Given the description of an element on the screen output the (x, y) to click on. 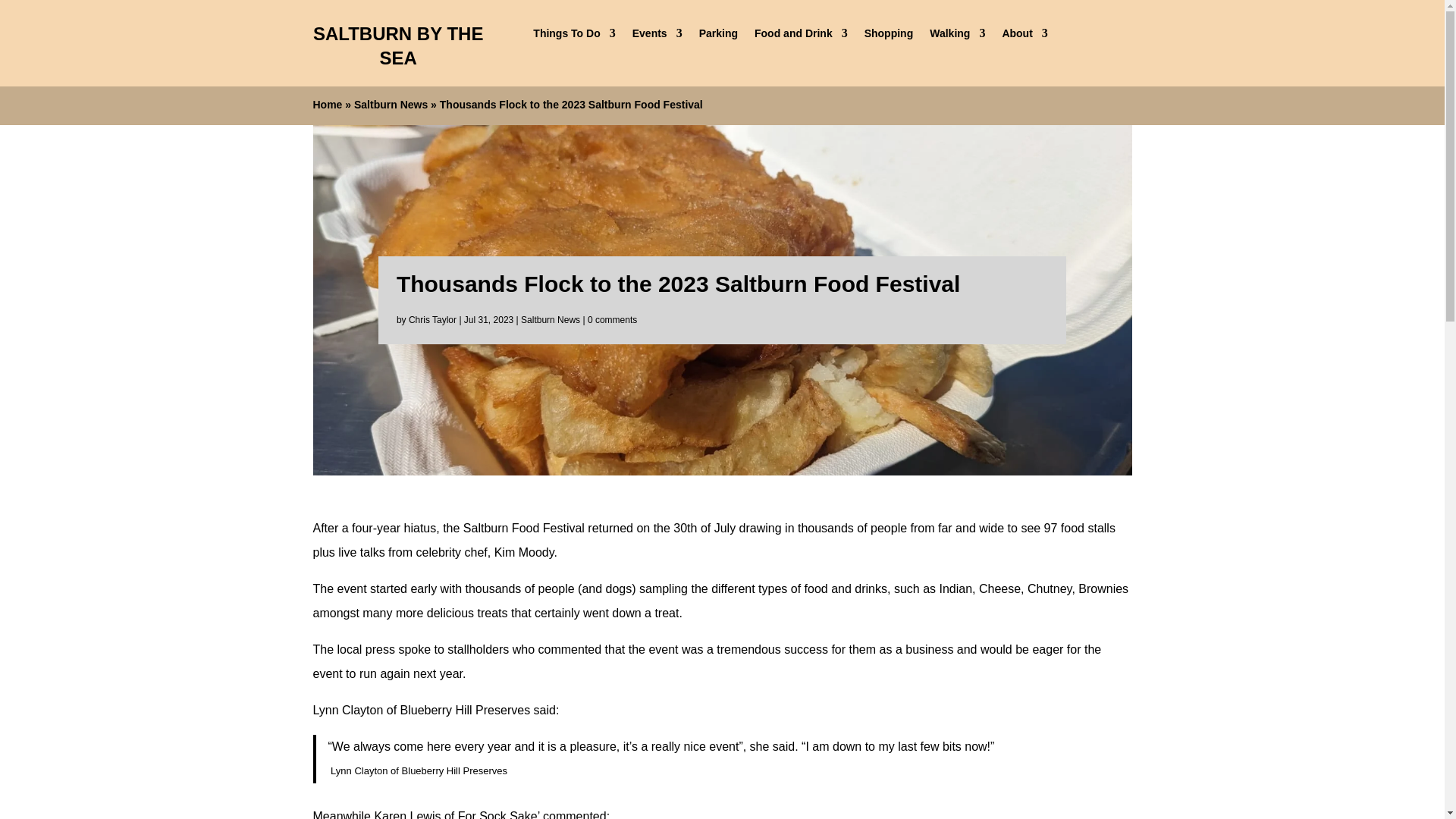
Events (656, 36)
SALTBURN BY THE SEA (398, 45)
Posts by Chris Taylor (433, 319)
Things To Do (573, 36)
